Given the description of an element on the screen output the (x, y) to click on. 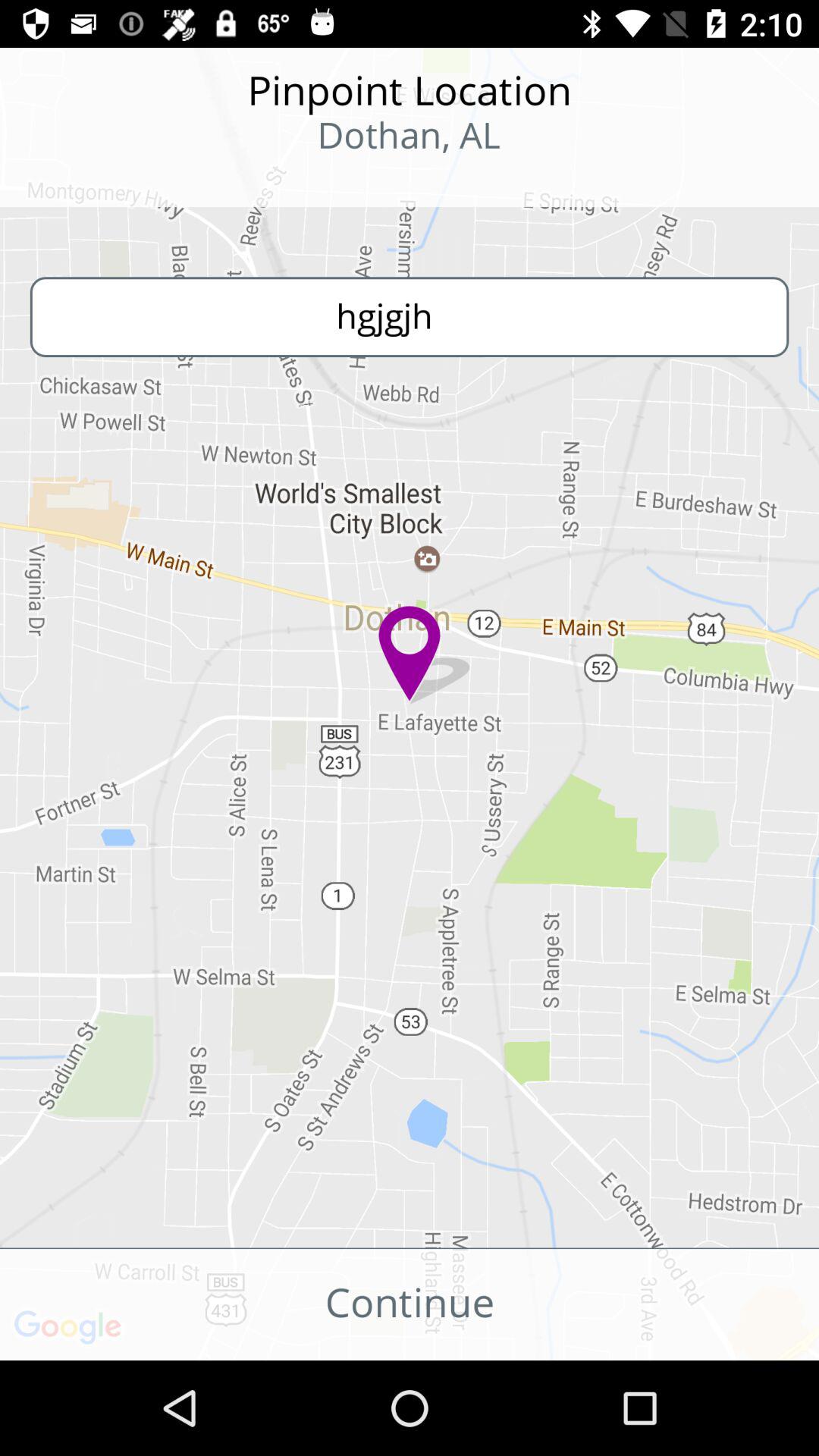
select the text hgjgjh (409, 316)
